Given the description of an element on the screen output the (x, y) to click on. 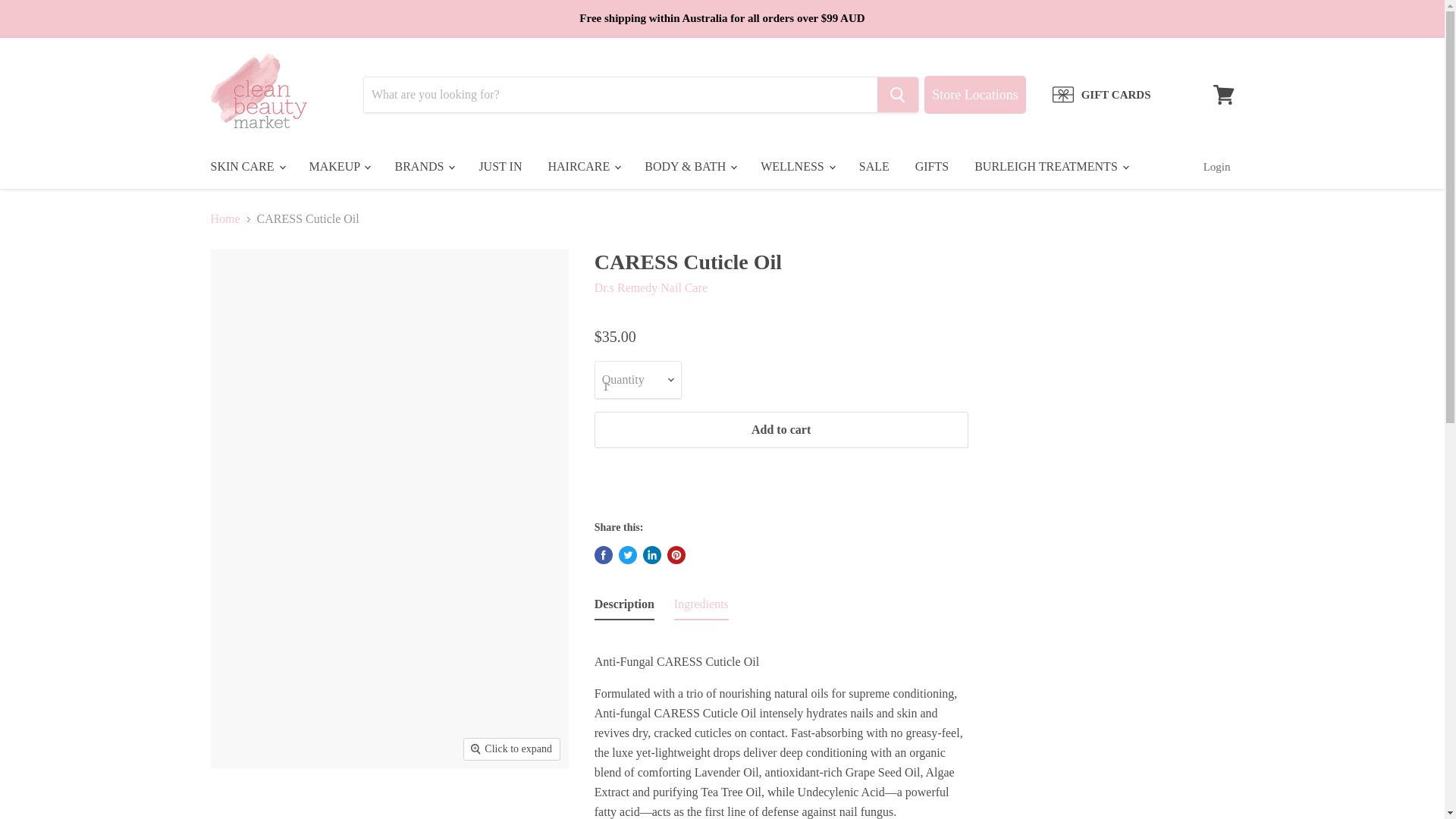
Store Locations (974, 94)
View cart (1223, 94)
SKIN CARE (246, 166)
